Given the description of an element on the screen output the (x, y) to click on. 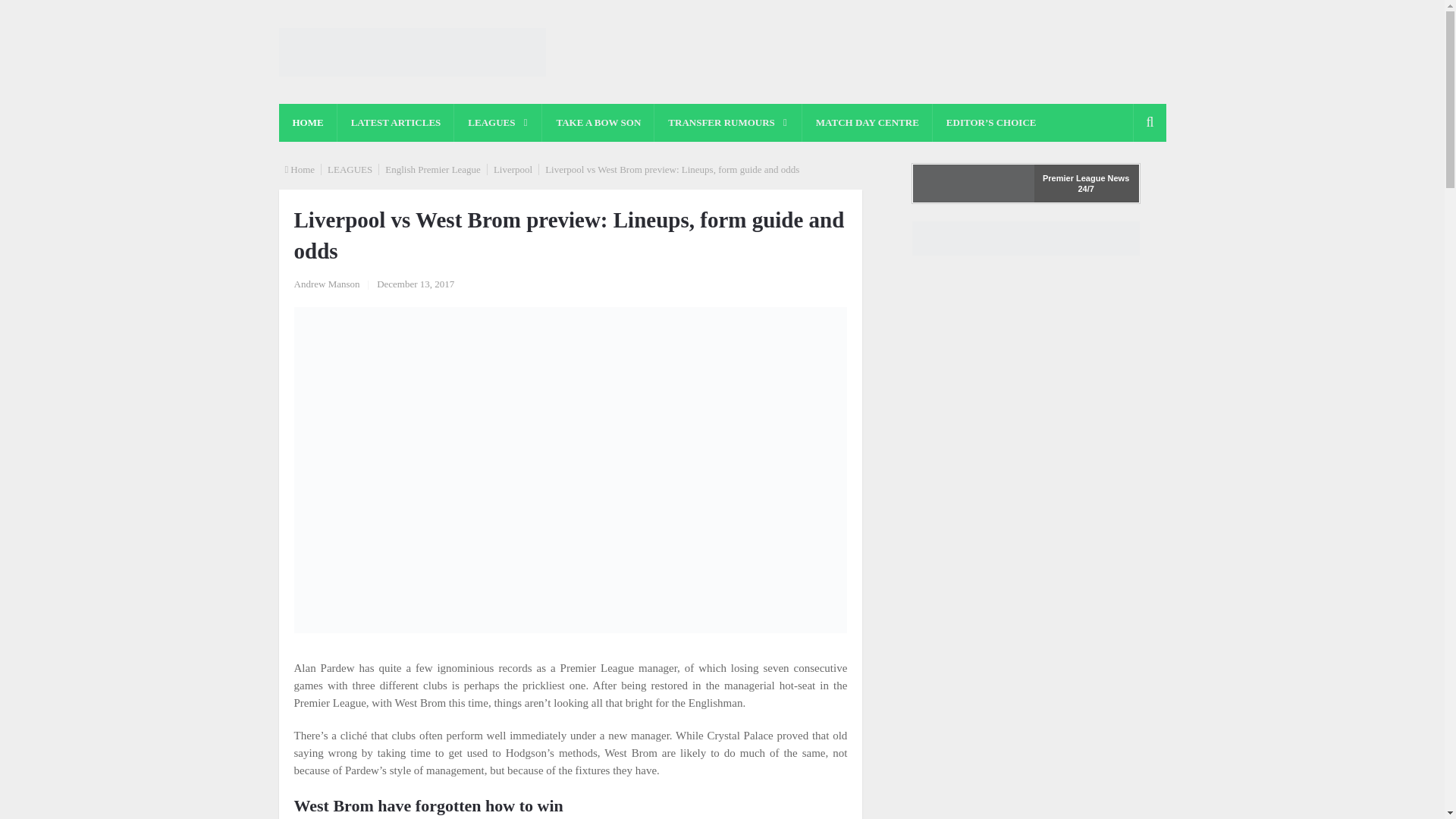
LATEST ARTICLES (395, 122)
HOME (308, 122)
Posts by Andrew Manson (326, 283)
LEAGUES (497, 122)
